Given the description of an element on the screen output the (x, y) to click on. 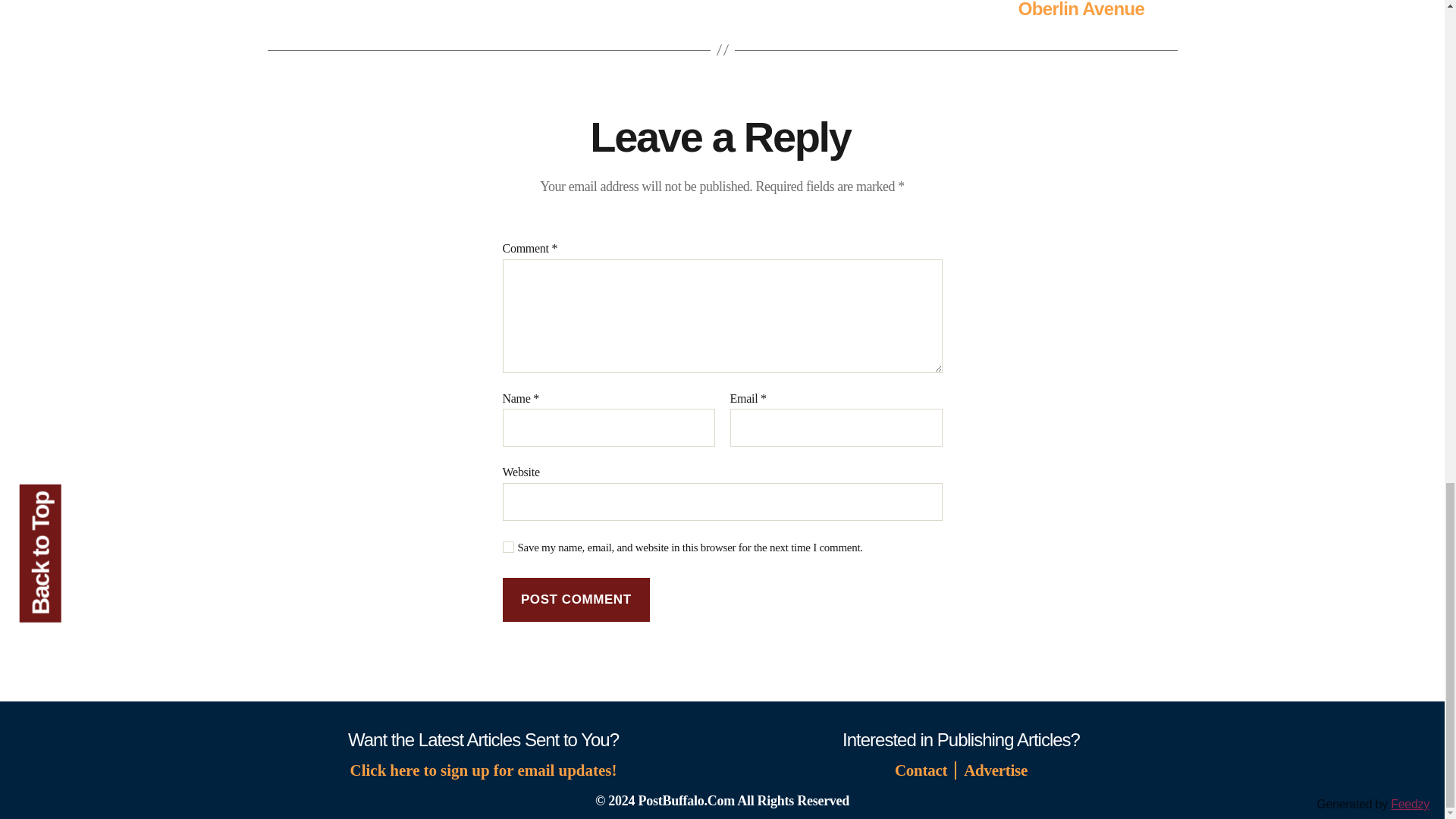
PostBuffalo.Com (687, 800)
Advertise (994, 770)
yes (507, 546)
Contact (923, 770)
Click here to sign up for email updates! (483, 770)
Post Comment (575, 600)
Post Comment (575, 600)
